Given the description of an element on the screen output the (x, y) to click on. 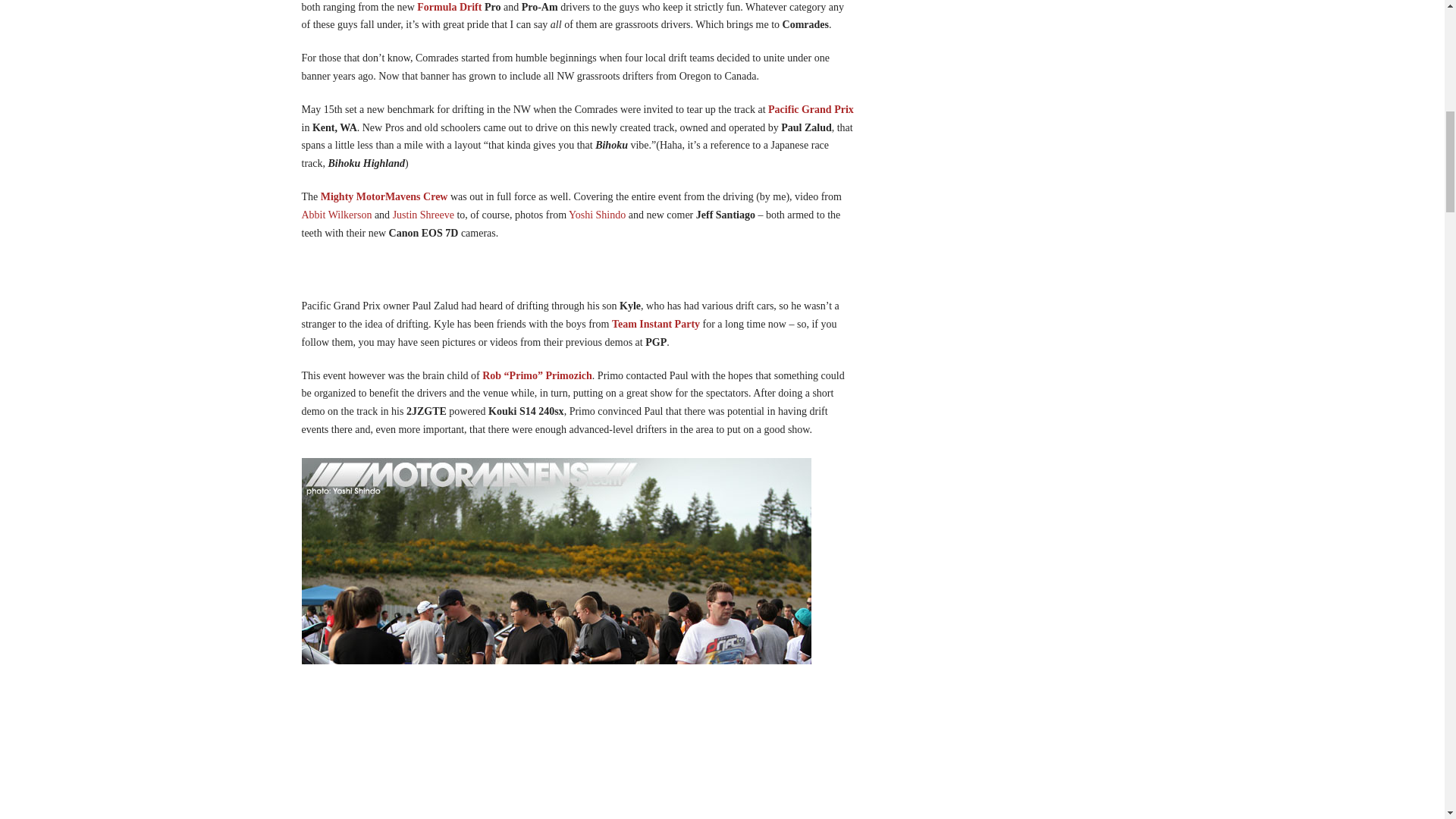
Pacific Grand Prix (810, 109)
Team Instant Party (655, 324)
Justin Shreeve (423, 214)
Formula Drift (450, 7)
Mighty MotorMavens Crew (384, 196)
Yoshi Shindo (597, 214)
Abbit Wilkerson (336, 214)
